Given the description of an element on the screen output the (x, y) to click on. 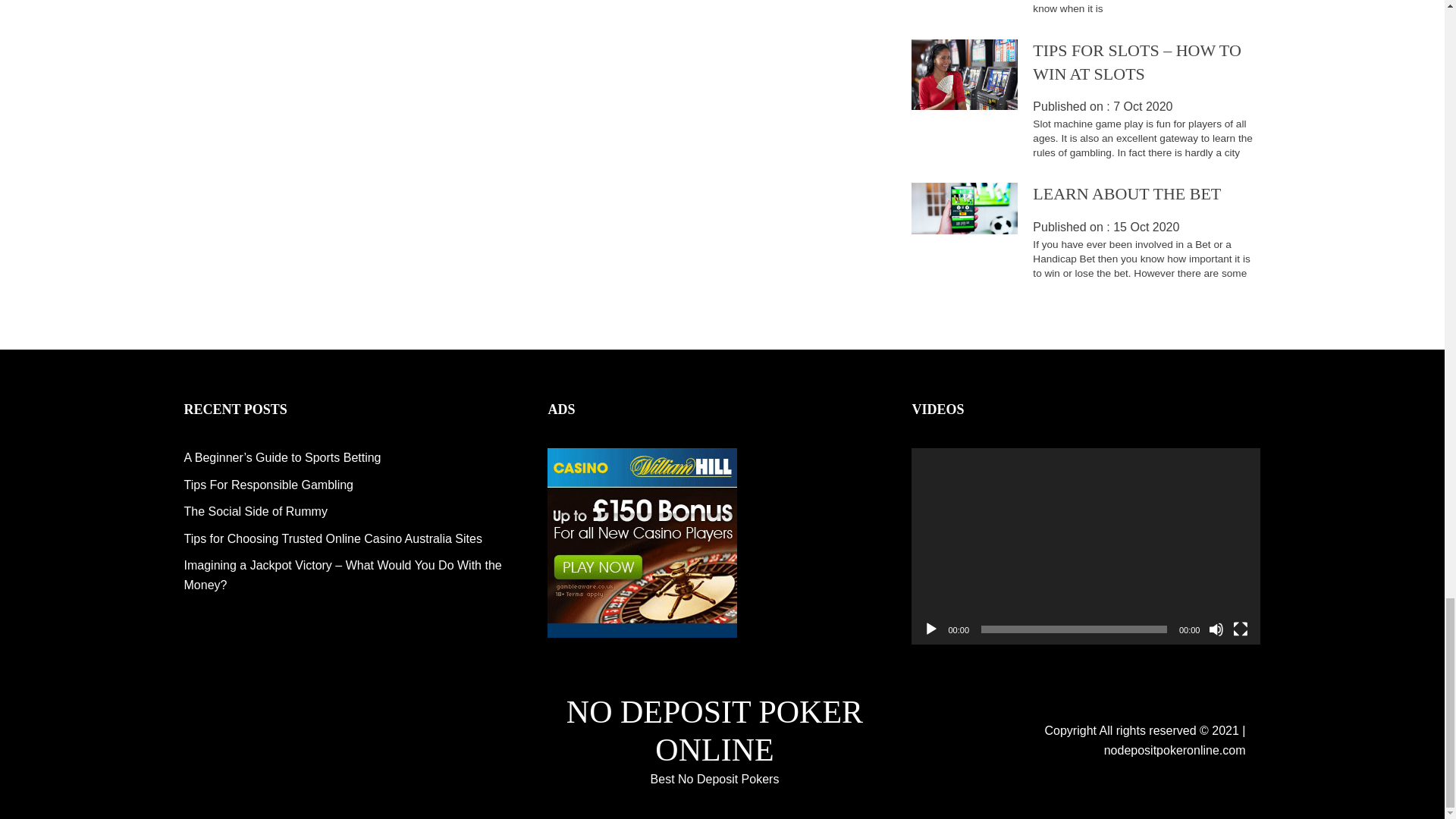
Mute (1216, 629)
Play (931, 629)
Fullscreen (1240, 629)
